Given the description of an element on the screen output the (x, y) to click on. 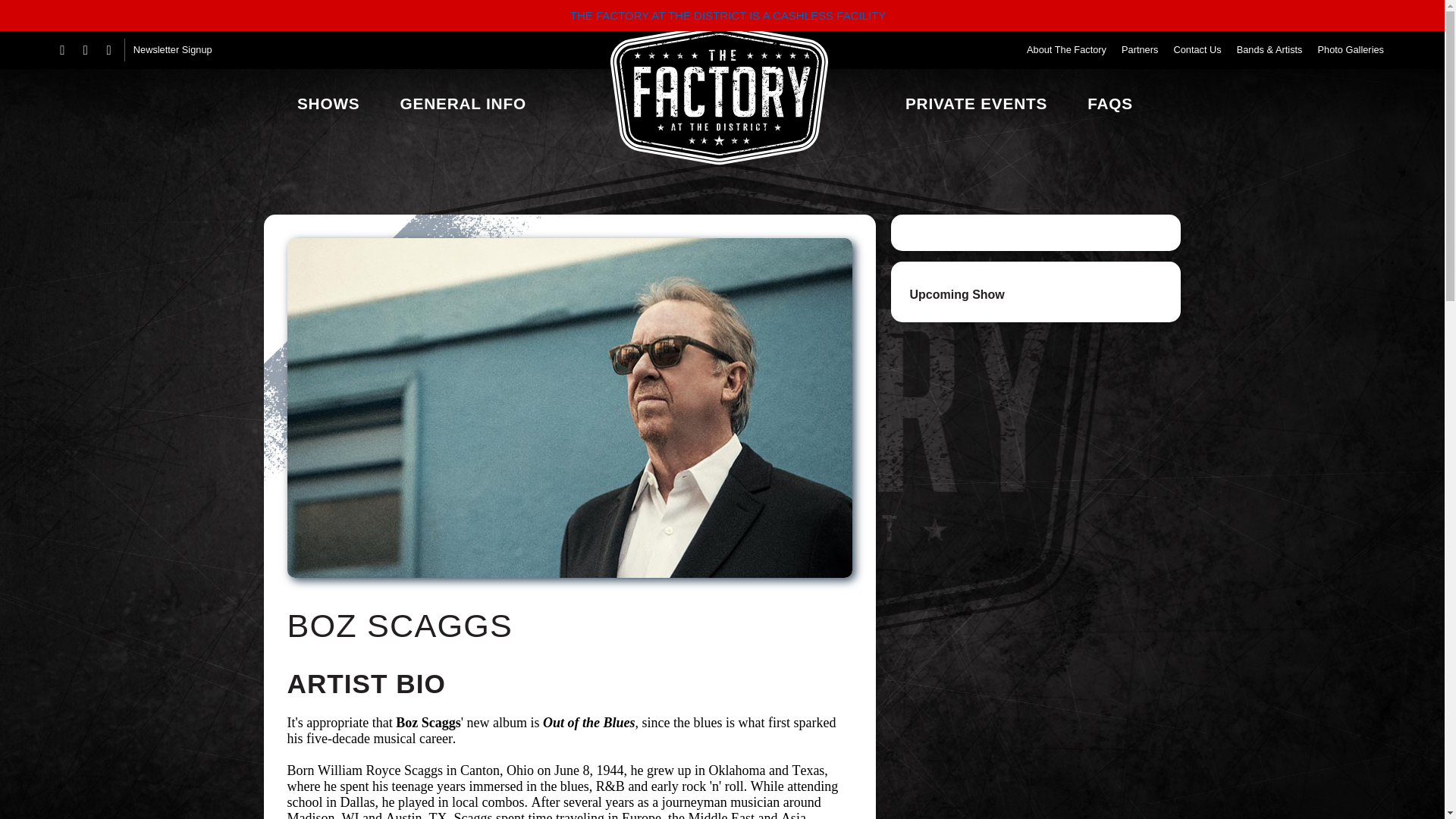
Partners (1139, 49)
Newsletter Signup (172, 49)
SHOWS (328, 103)
GENERAL INFO (467, 103)
About The Factory (1066, 49)
Photo Galleries (1350, 49)
Contact Us (1197, 49)
